Given the description of an element on the screen output the (x, y) to click on. 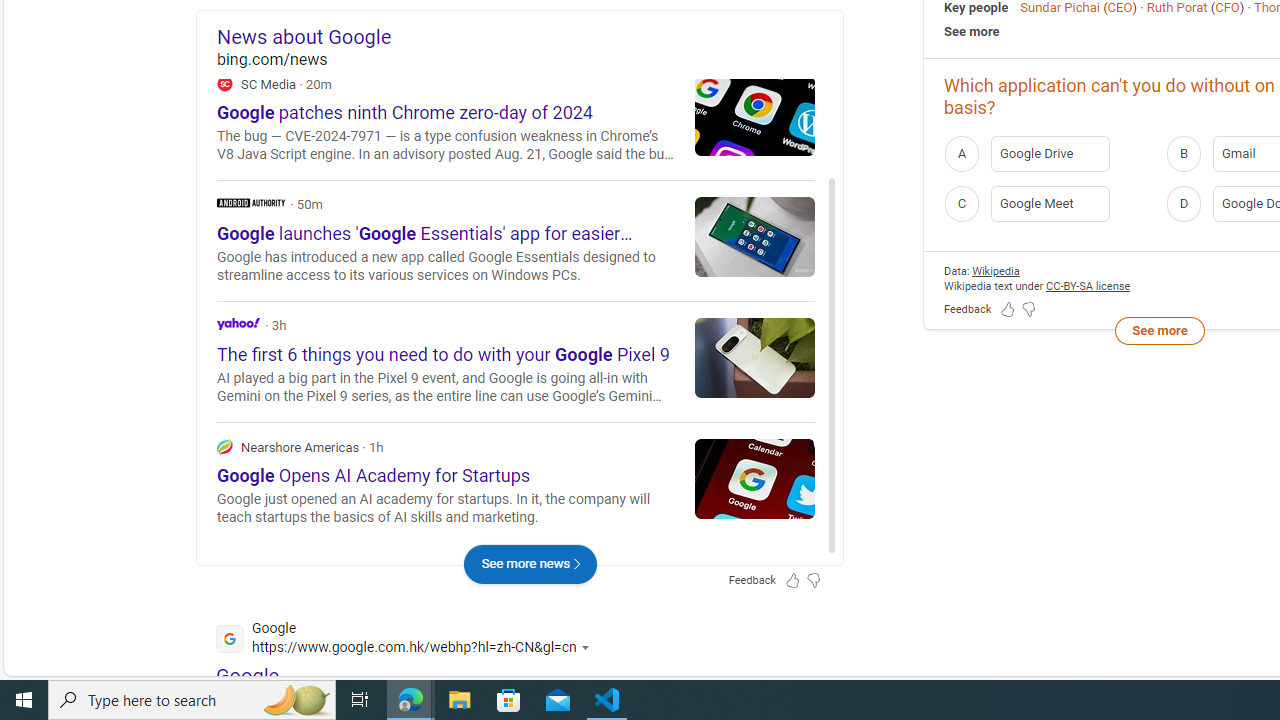
Yahoo (516, 360)
Data attribution Wikipedia (995, 270)
Global web icon (229, 638)
Google (248, 675)
Yahoo (238, 322)
News about Google (530, 36)
A Google Drive (1049, 152)
Actions for this site (588, 647)
Google patches ninth Chrome zero-day of 2024 (755, 115)
Dislike (727, 129)
Nearshore Americas (516, 481)
Feedback Dislike (1028, 309)
